Given the description of an element on the screen output the (x, y) to click on. 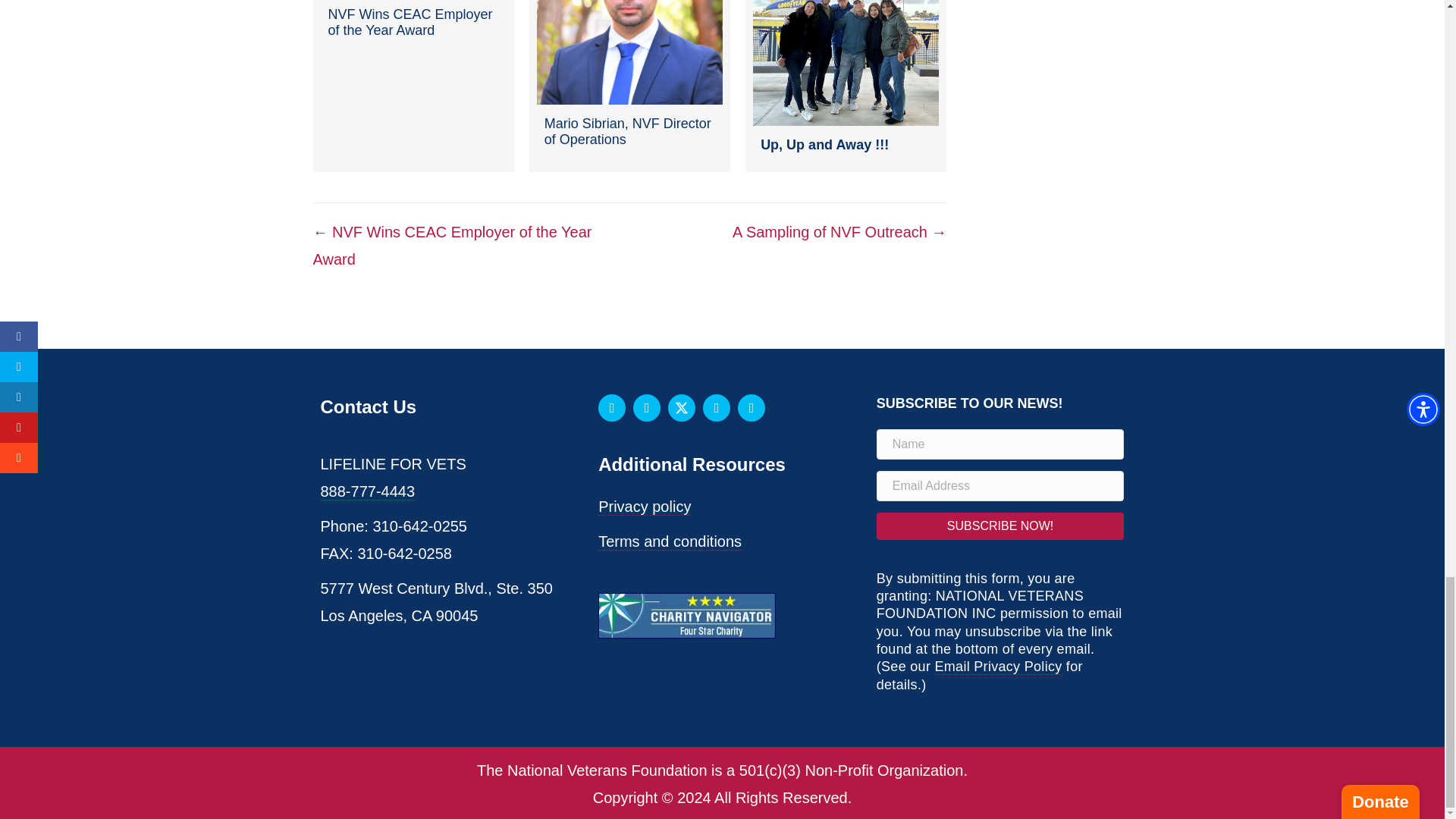
NVF Wins CEAC Employer of the Year Award (413, 85)
Mario Sibrian, NVF Director of Operations (629, 85)
Facebook (612, 407)
YouTube (716, 407)
group-photo-blimp (845, 63)
SW-Law-Profile-Pic-copy (629, 52)
Instagram (647, 407)
Up, Up and Away !!! (845, 85)
